Given the description of an element on the screen output the (x, y) to click on. 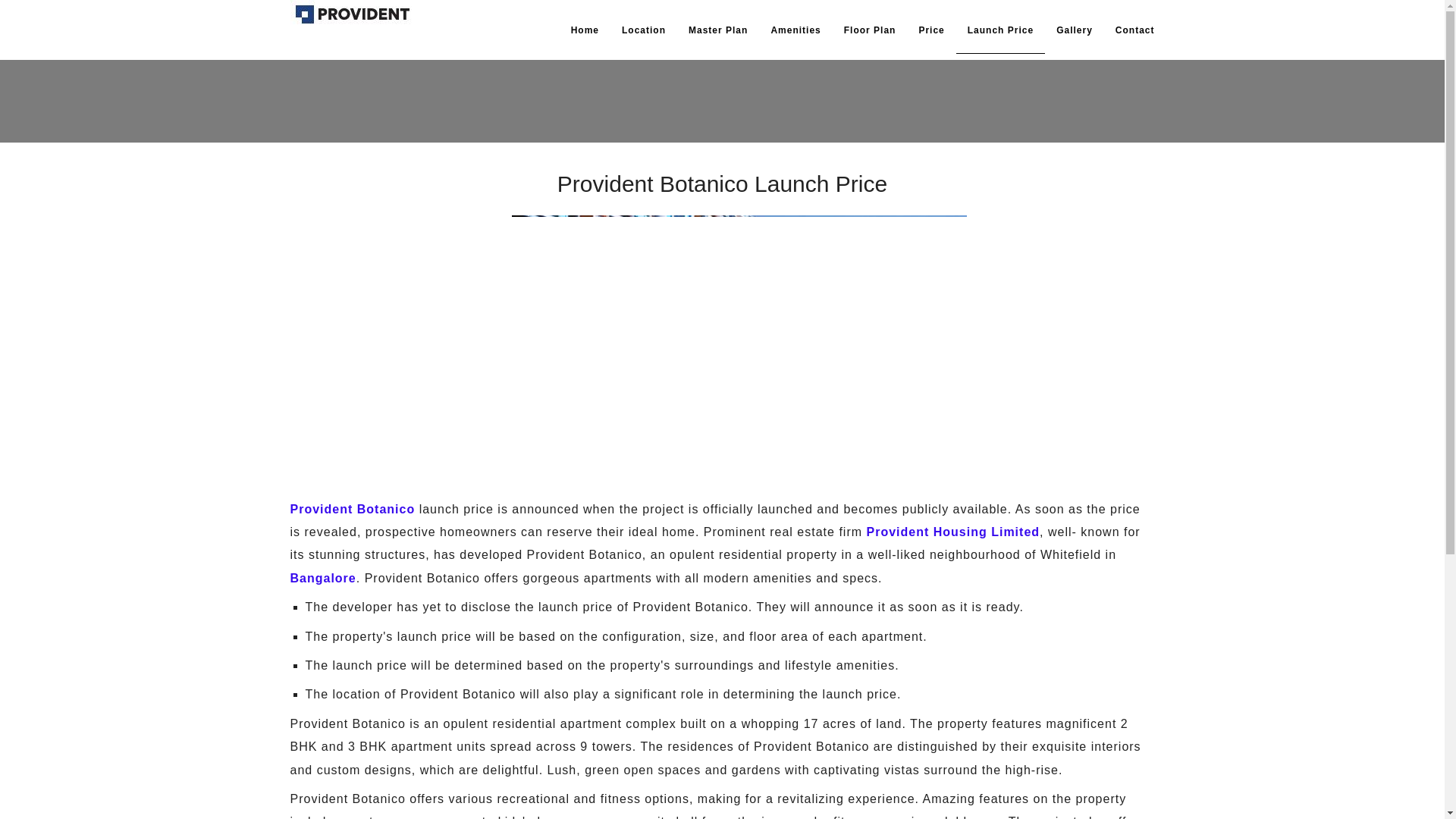
Amenities (794, 30)
Price (931, 30)
Gallery (1074, 30)
Provident Botanico Amenities (794, 30)
Provident Botanico Contact (1134, 30)
Floor Plan (869, 30)
Provident Botanico (351, 508)
Home (584, 30)
Provident Botanico (351, 508)
Provident Botanico Floor Plan (869, 30)
Provident Botanico Gallery (1074, 30)
Contact (1134, 30)
Provident Botanico (584, 30)
Provident Housing Limited (952, 531)
Bangalore (322, 577)
